Given the description of an element on the screen output the (x, y) to click on. 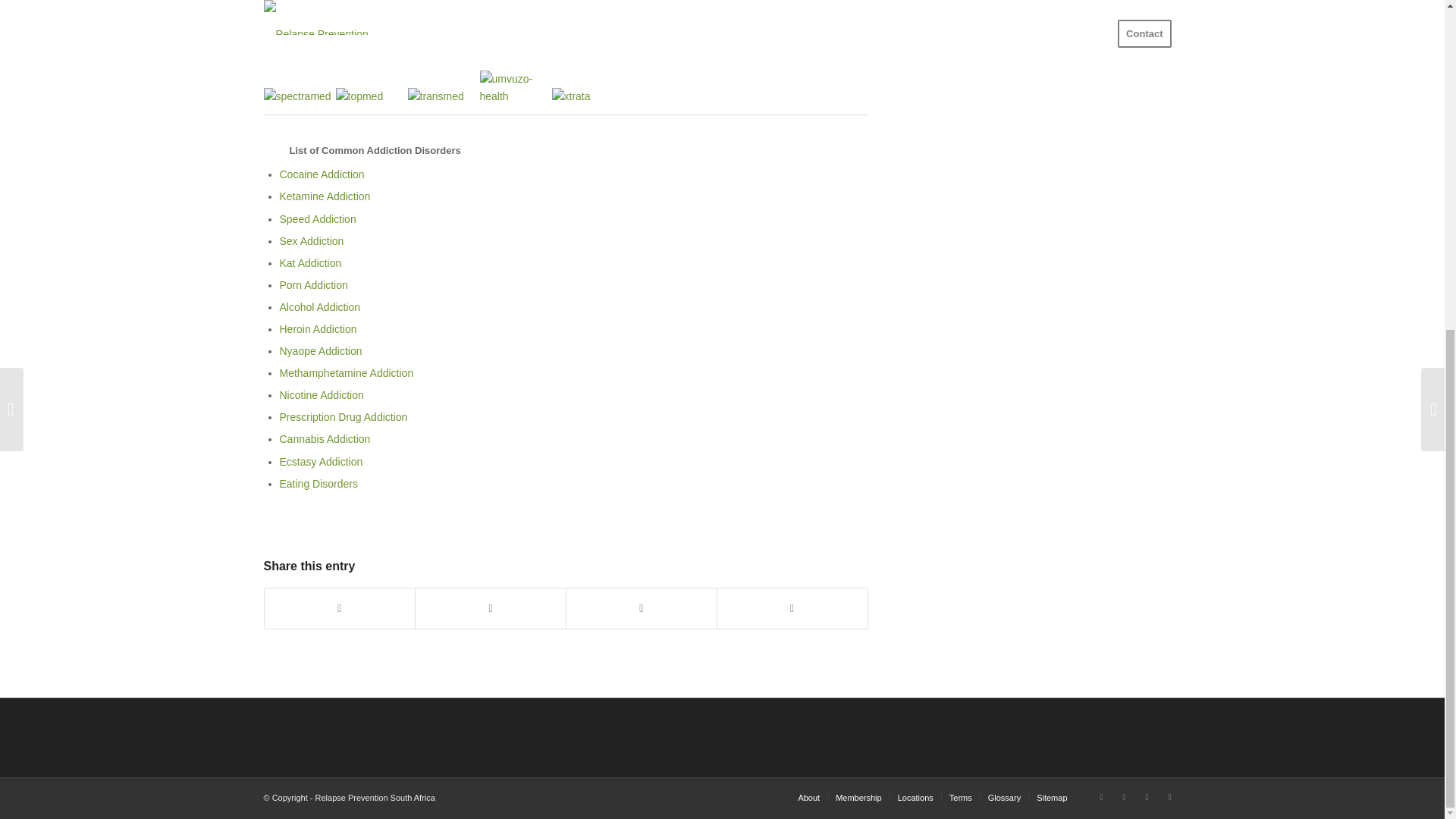
lahealth (587, 0)
liberty (659, 0)
hosmed (443, 0)
keyhealth (515, 0)
